Given the description of an element on the screen output the (x, y) to click on. 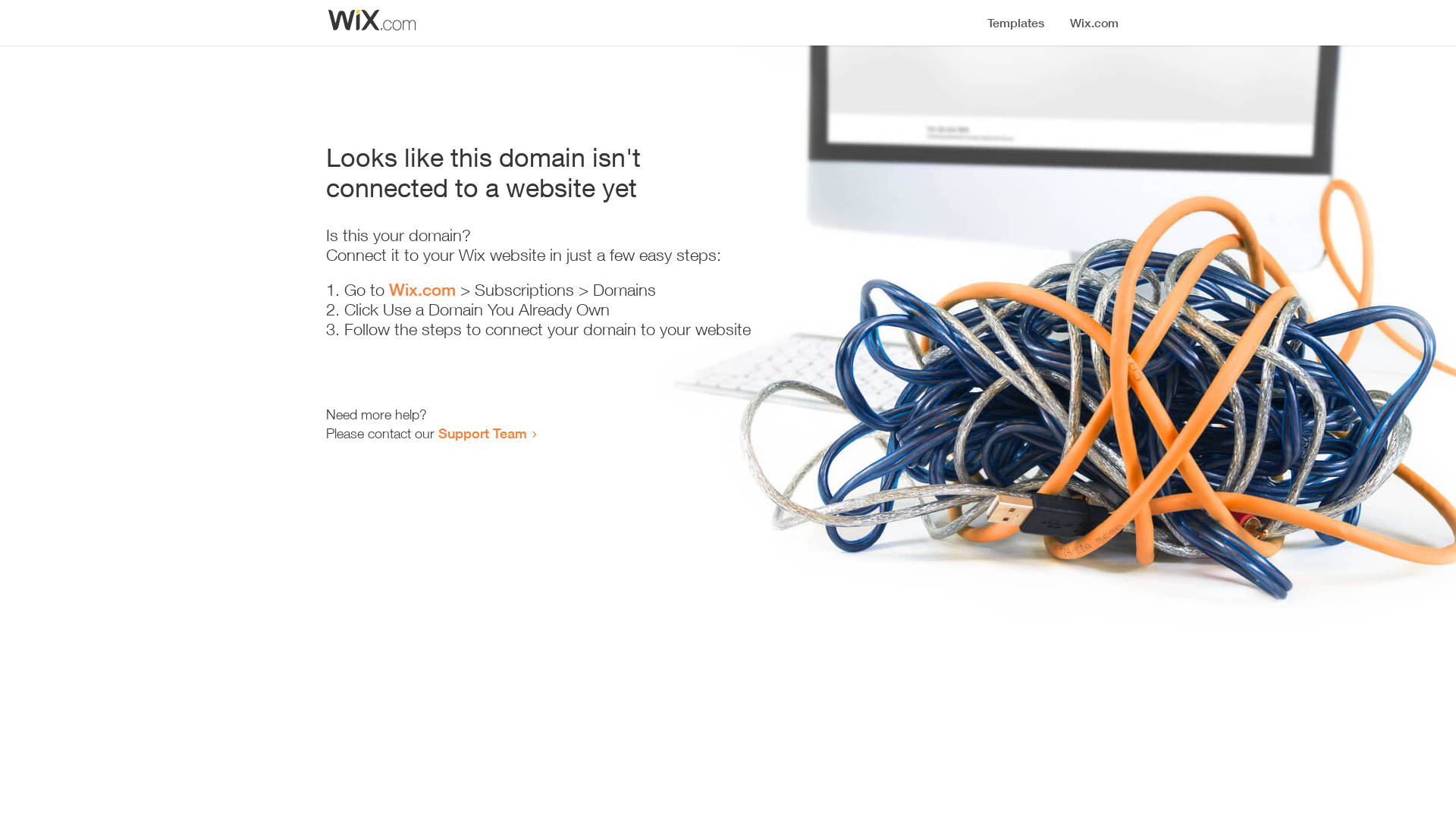
Support Team Element type: text (482, 432)
Wix.com Element type: text (422, 289)
